Given the description of an element on the screen output the (x, y) to click on. 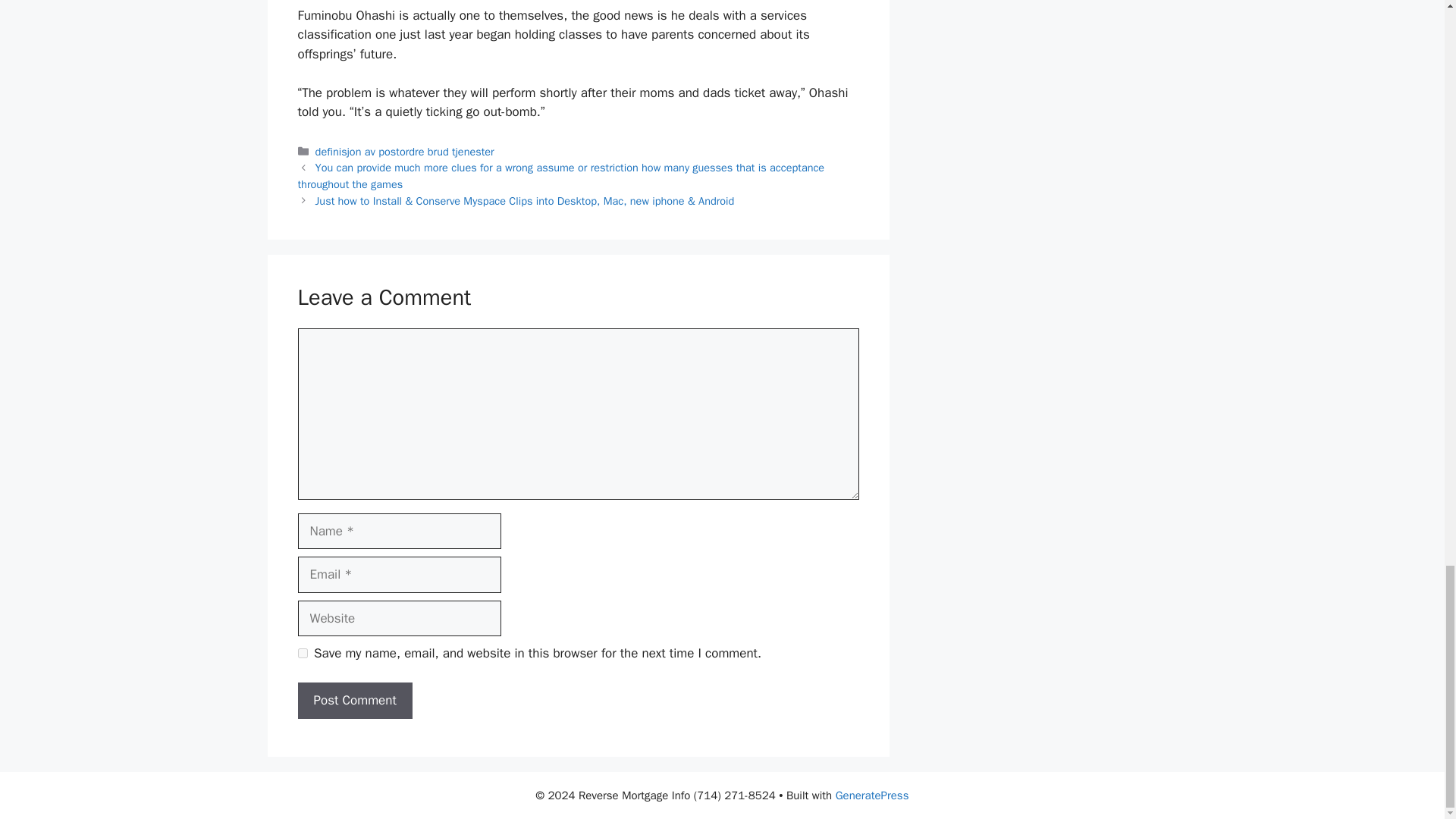
GeneratePress (871, 795)
definisjon av postordre brud tjenester (405, 151)
Post Comment (354, 700)
yes (302, 653)
Post Comment (354, 700)
